Given the description of an element on the screen output the (x, y) to click on. 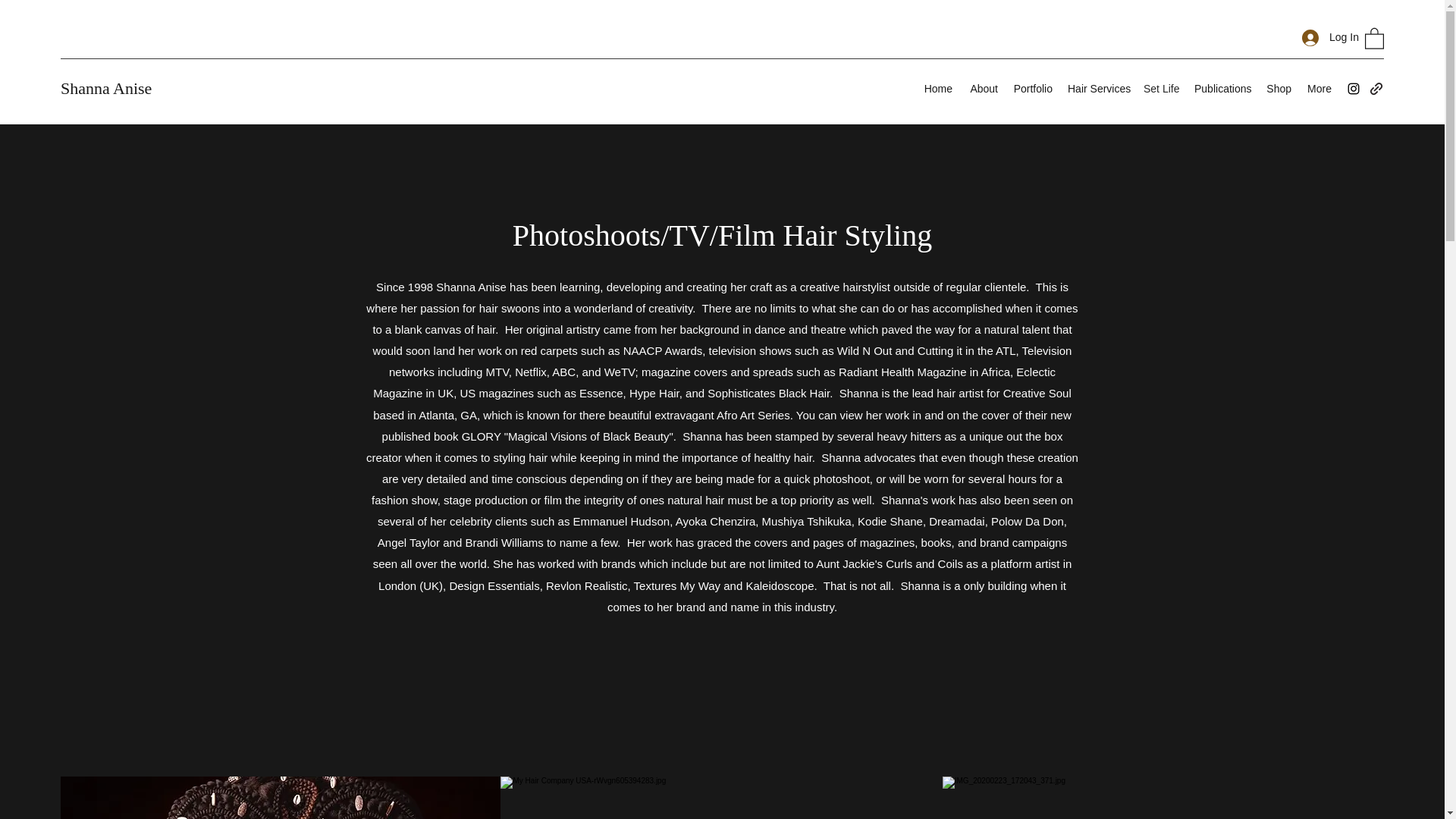
Publications (1222, 87)
Hair Services (1097, 87)
Set Life (1160, 87)
Portfolio (1032, 87)
About (982, 87)
Shop (1278, 87)
Shanna Anise (106, 87)
Log In (1325, 37)
Home (937, 87)
